Given the description of an element on the screen output the (x, y) to click on. 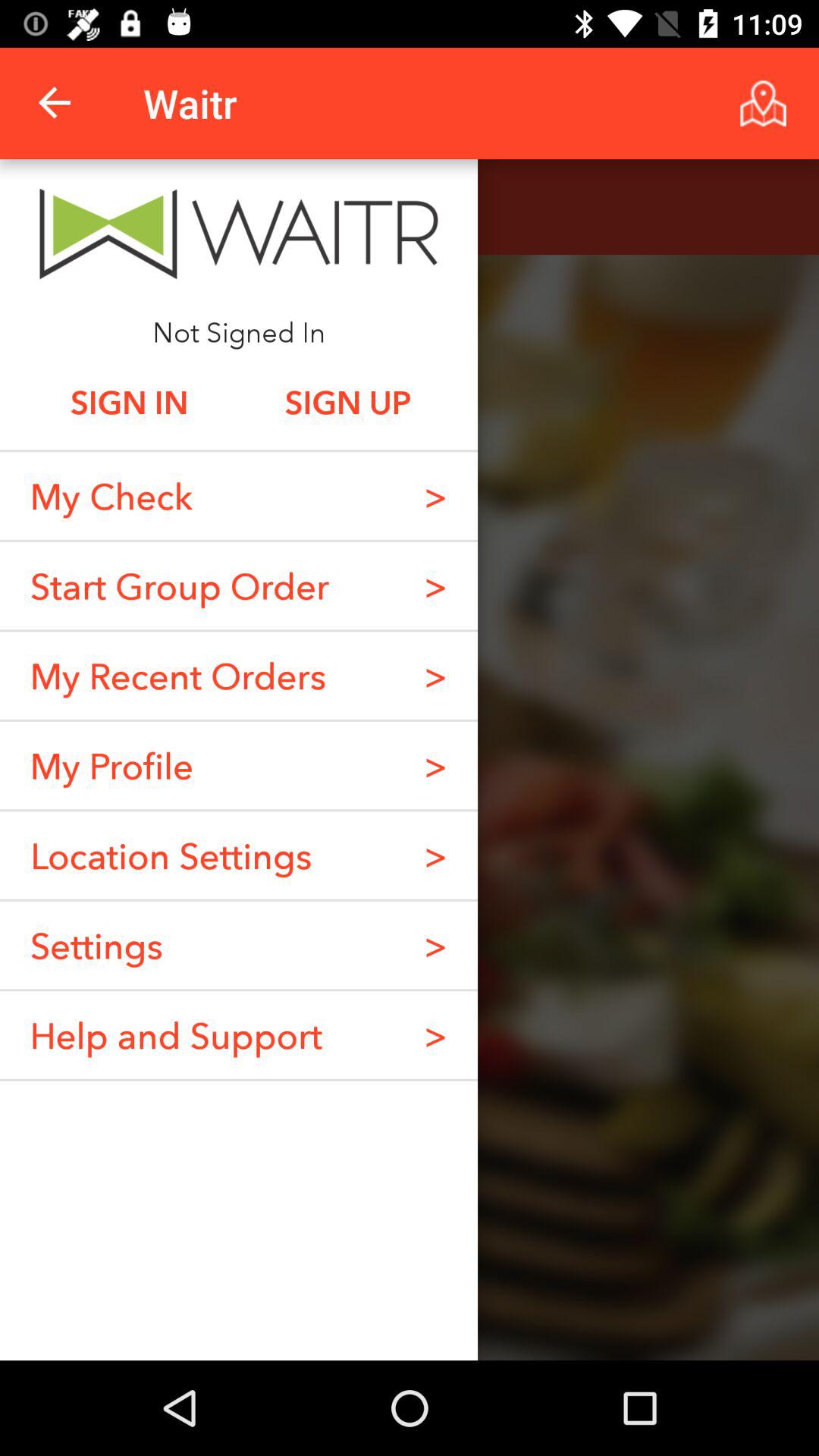
choose item above the > (435, 495)
